Given the description of an element on the screen output the (x, y) to click on. 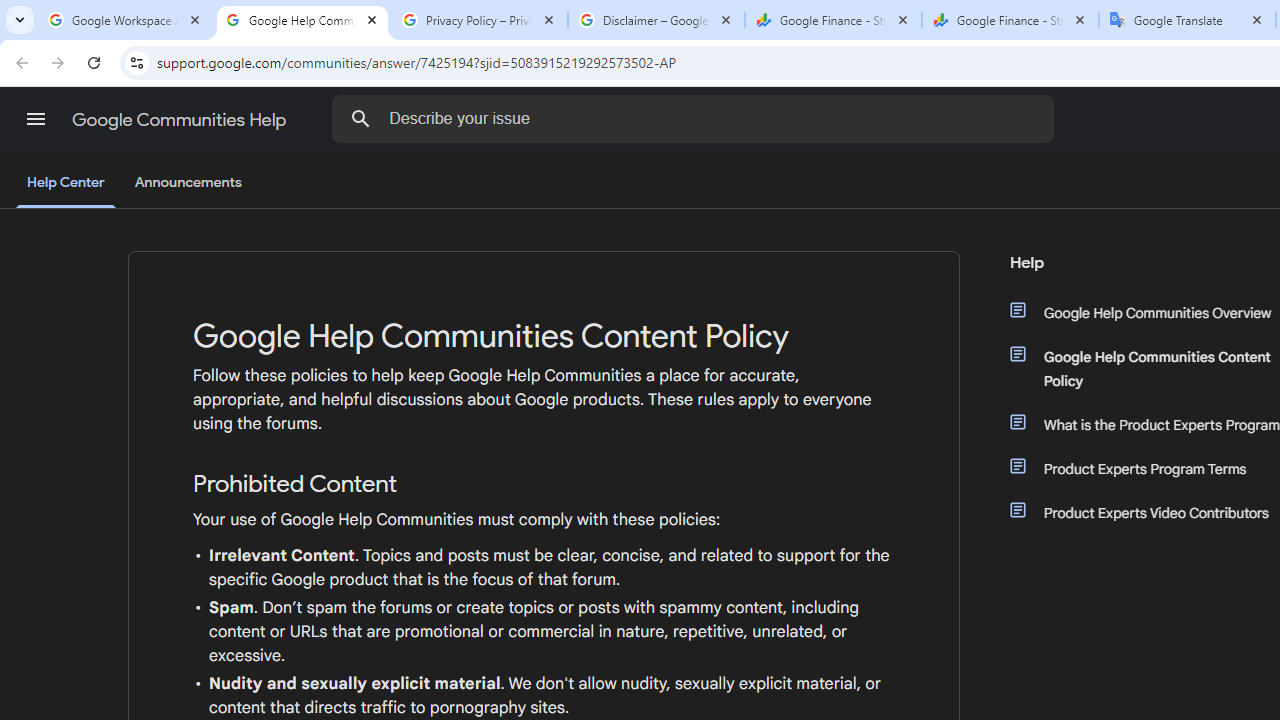
Announcements (187, 183)
Help Center (65, 183)
